Given the description of an element on the screen output the (x, y) to click on. 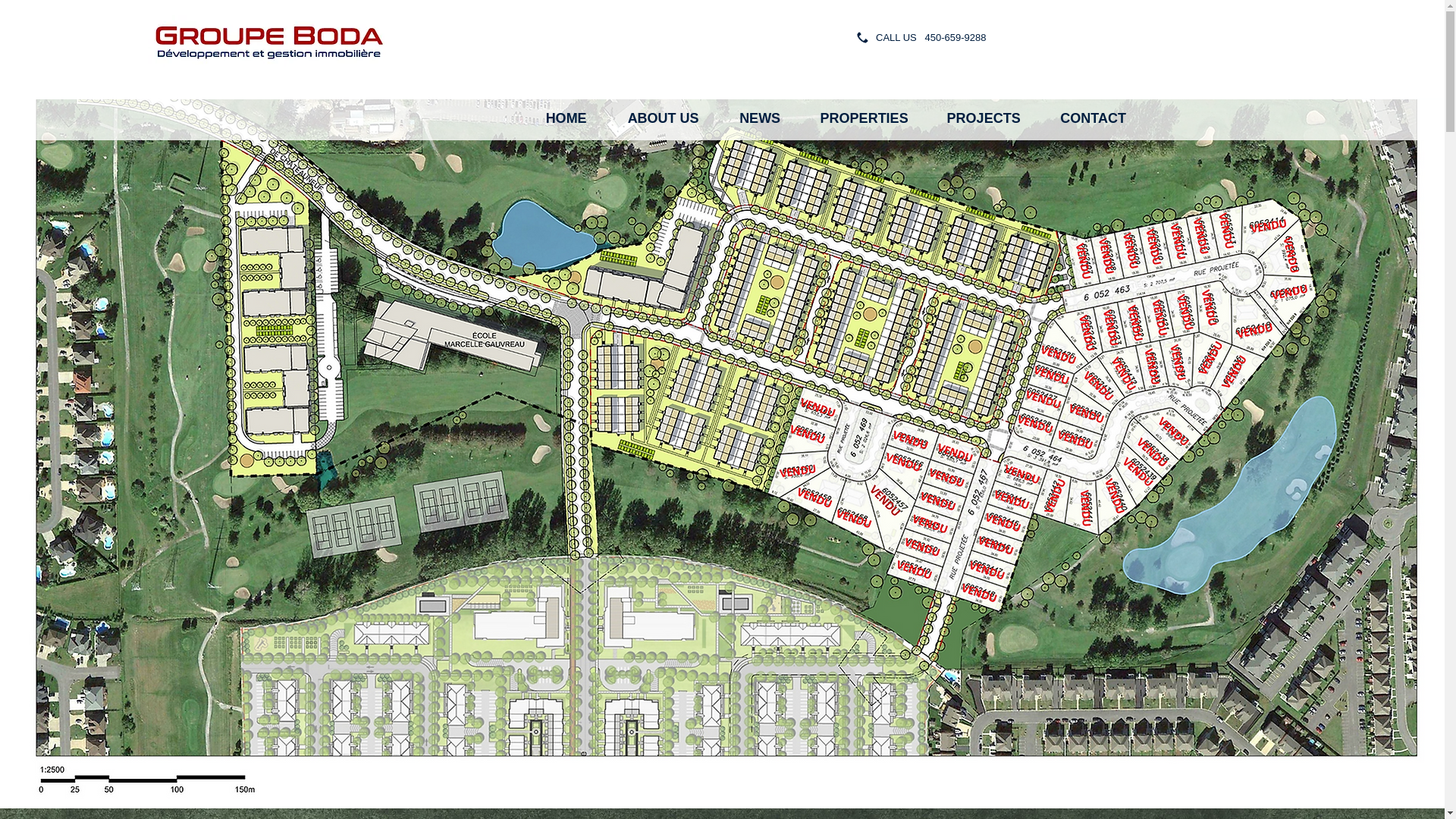
PROPERTIES (863, 118)
HOME (565, 118)
NEWS (759, 118)
ABOUT US (663, 118)
PROJECTS (983, 118)
CONTACT (1093, 118)
